Given the description of an element on the screen output the (x, y) to click on. 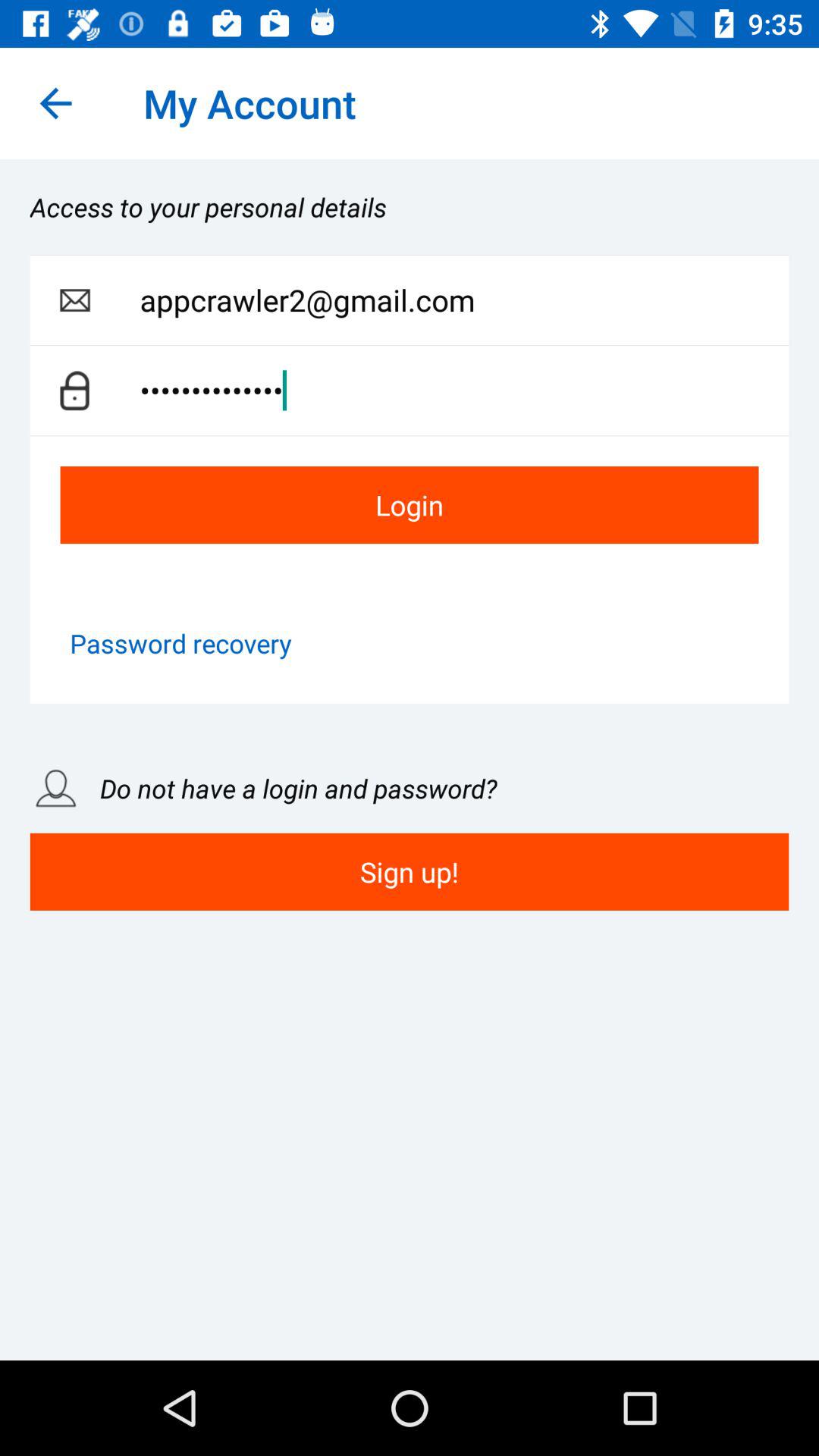
choose item below appcrawler2@gmail.com item (463, 390)
